Given the description of an element on the screen output the (x, y) to click on. 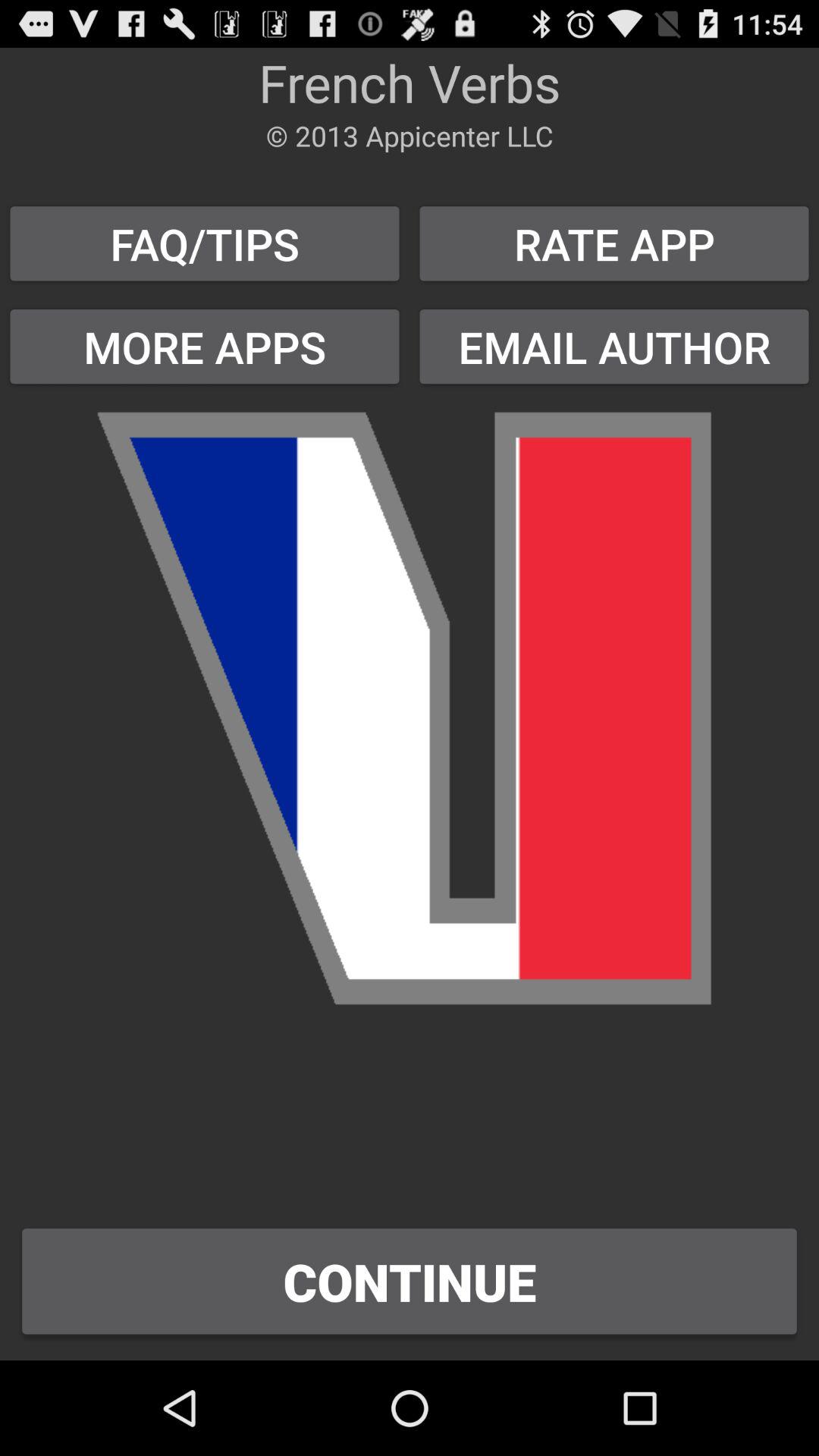
turn off the more apps item (204, 346)
